Given the description of an element on the screen output the (x, y) to click on. 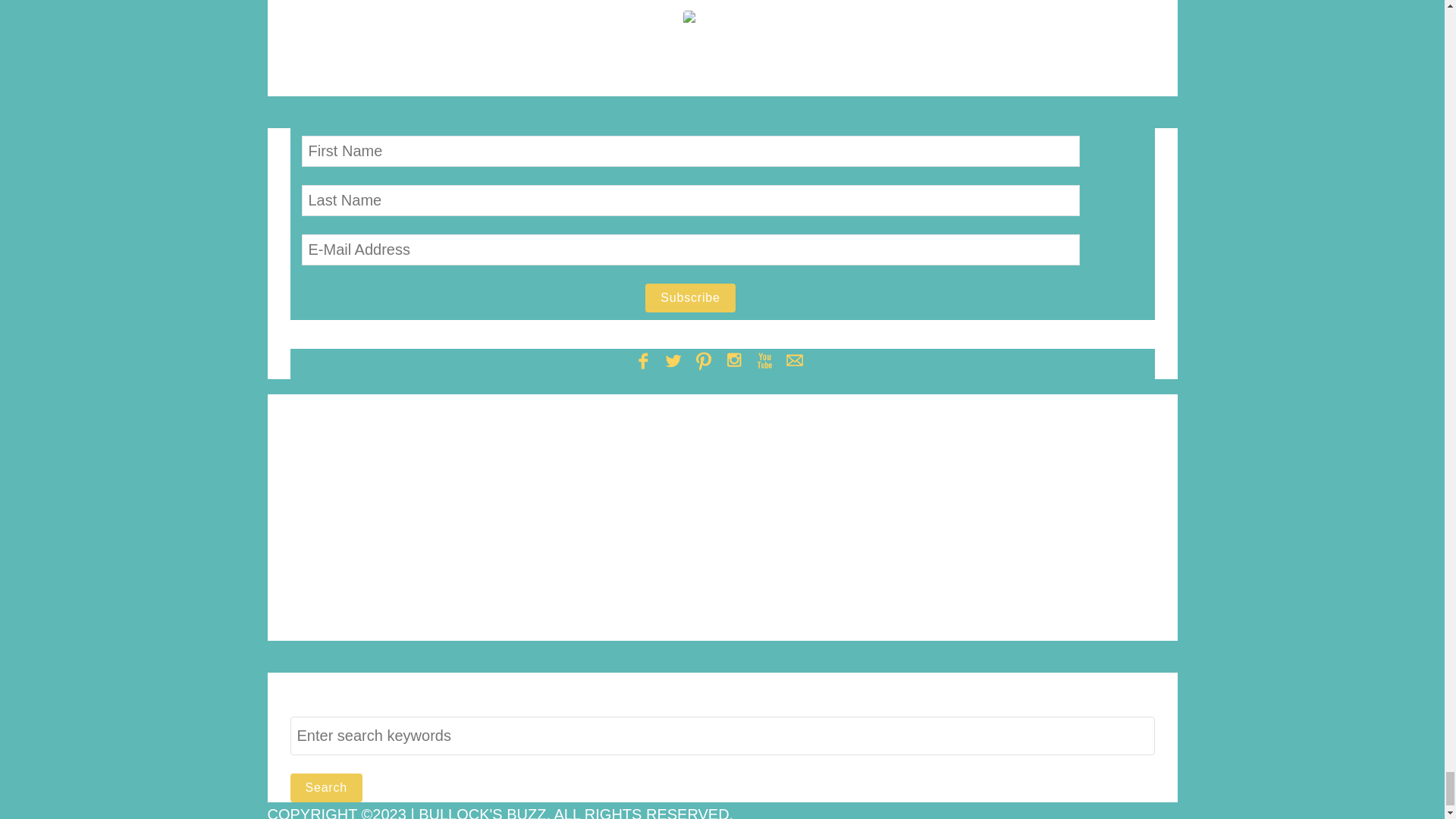
Search (325, 787)
Subscribe (690, 297)
Search for: (721, 735)
Search (325, 787)
